Given the description of an element on the screen output the (x, y) to click on. 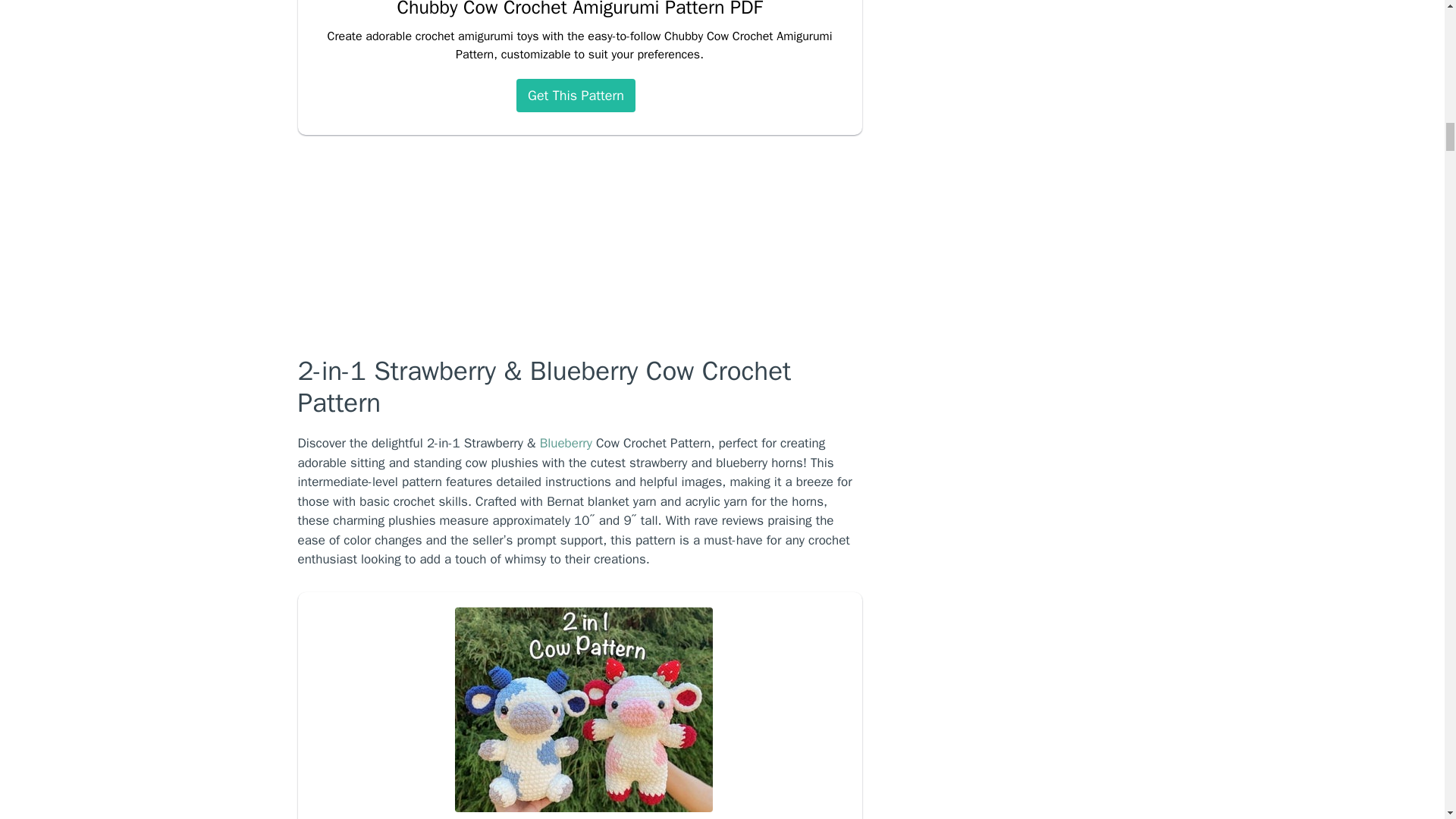
Chubby Cow Crochet Amigurumi Pattern PDF (579, 9)
Blueberry (566, 442)
Get This Pattern (575, 95)
